Given the description of an element on the screen output the (x, y) to click on. 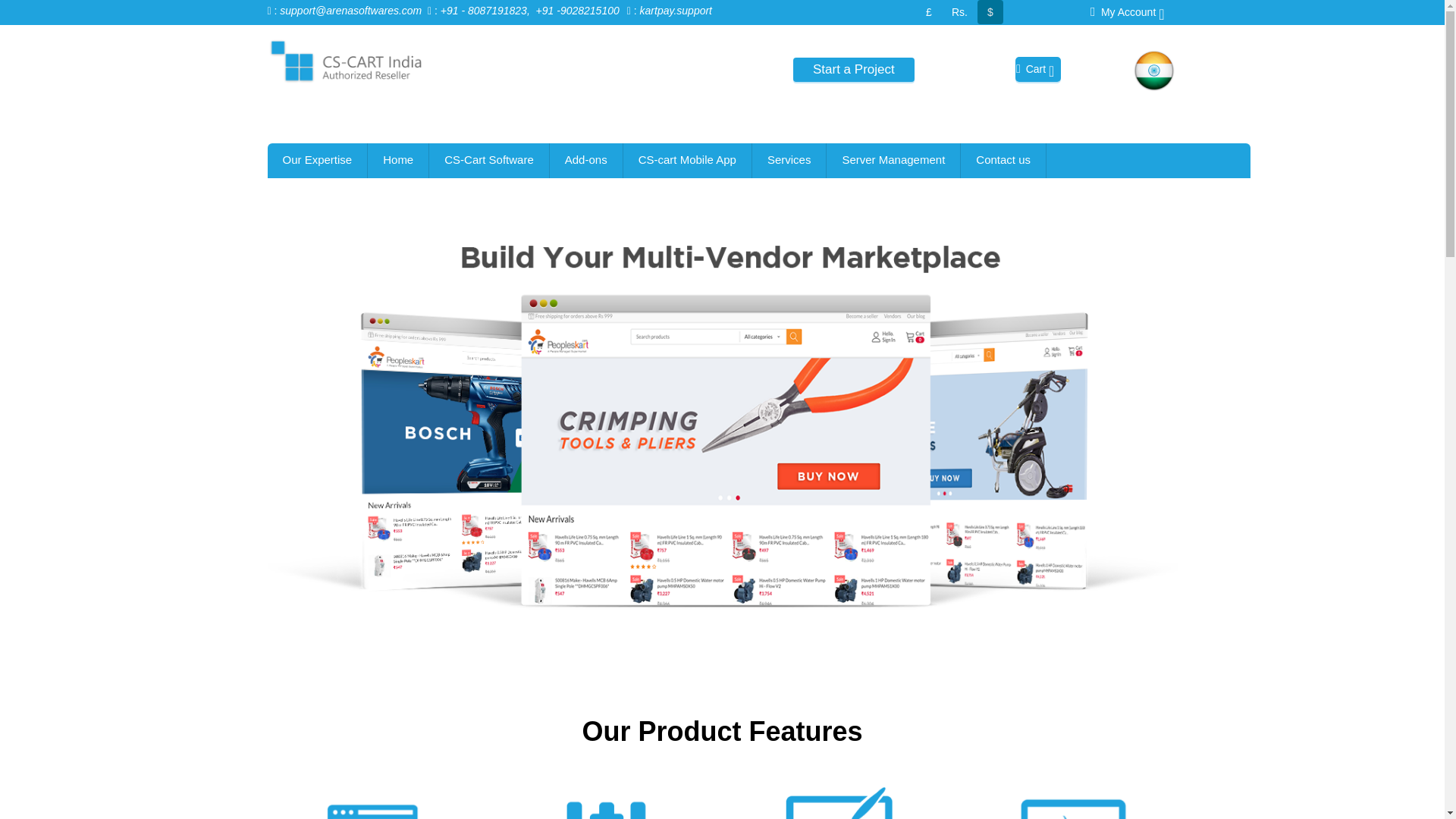
  My Account (1127, 11)
Multi-Store by Design (1070, 794)
Layouts Editor (837, 794)
Add-ons (586, 160)
flag (1153, 70)
Start a Project (853, 69)
Our Expertise (316, 160)
Home (398, 160)
Server Management (893, 160)
Services (789, 160)
logo (344, 61)
Theme Editor (373, 794)
logo (344, 60)
Start a Project (853, 68)
Full Control (606, 794)
